Given the description of an element on the screen output the (x, y) to click on. 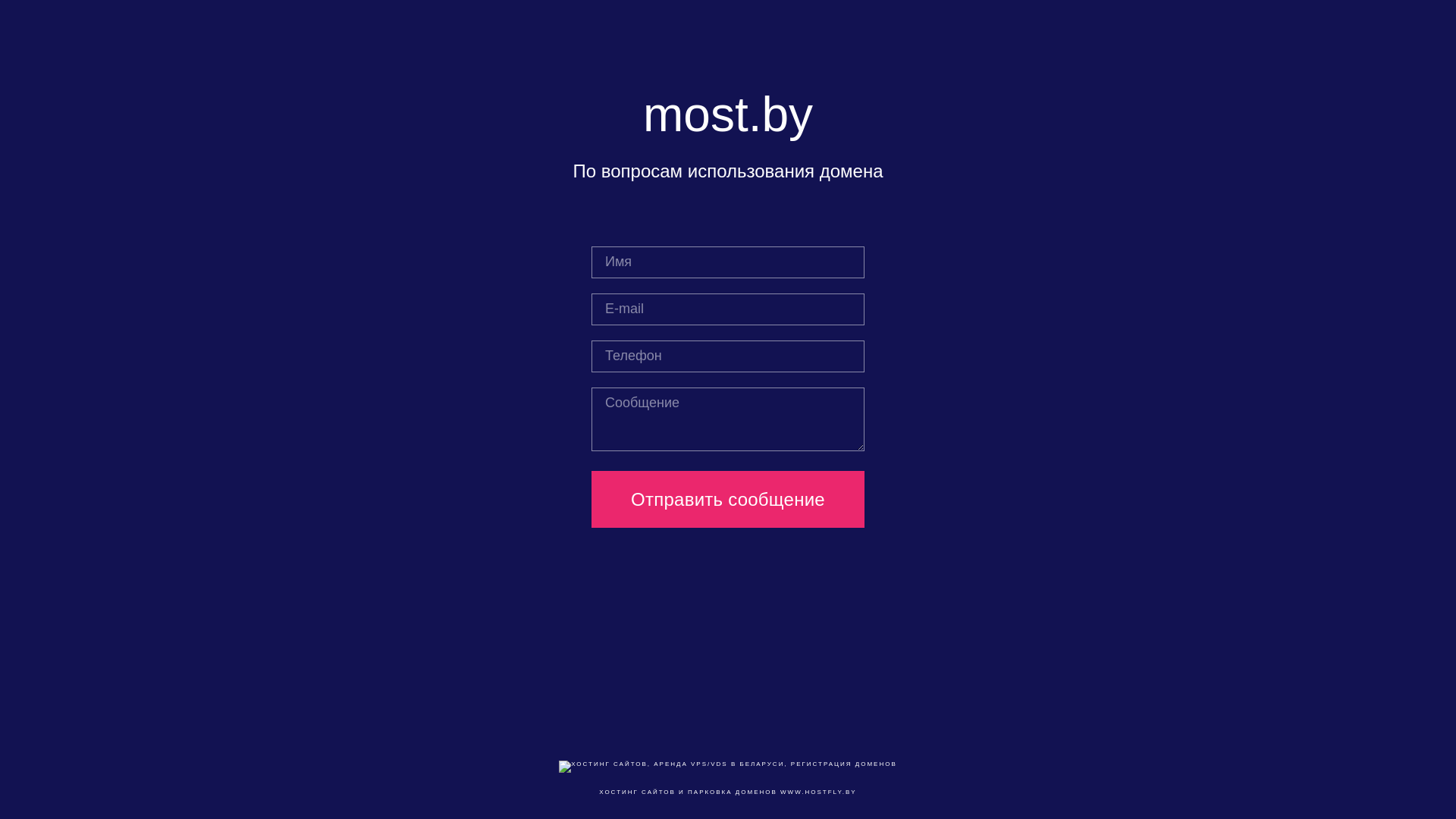
WWW.HOSTFLY.BY Element type: text (818, 791)
